Given the description of an element on the screen output the (x, y) to click on. 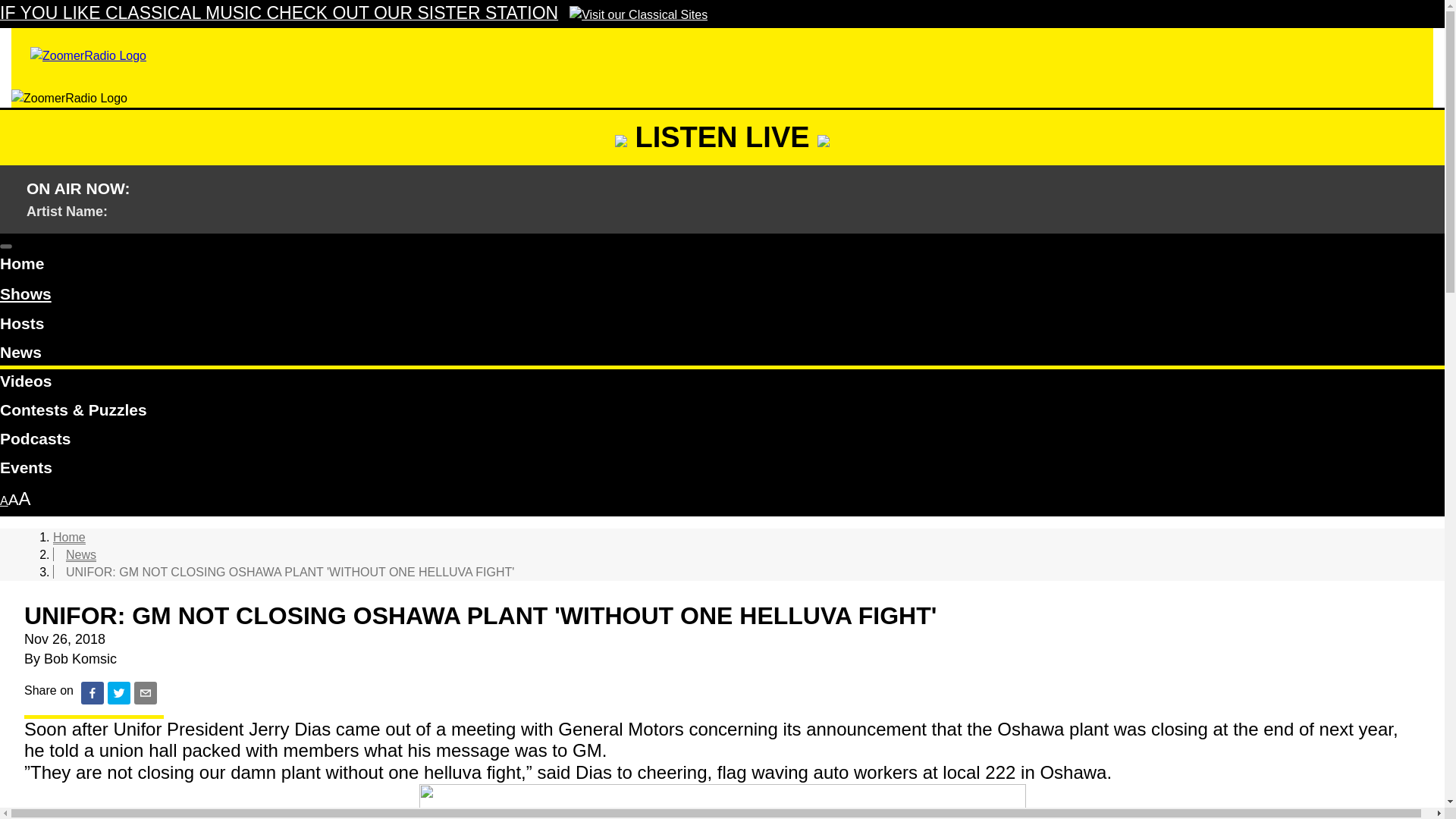
Podcasts (722, 440)
News (722, 354)
Shows (25, 294)
News (80, 554)
Events (722, 469)
Home (722, 265)
IF YOU LIKE CLASSICAL MUSIC CHECK OUT OUR SISTER STATION (353, 14)
LISTEN LIVE (722, 136)
Videos (722, 383)
Hosts (722, 326)
Home (68, 537)
